Given the description of an element on the screen output the (x, y) to click on. 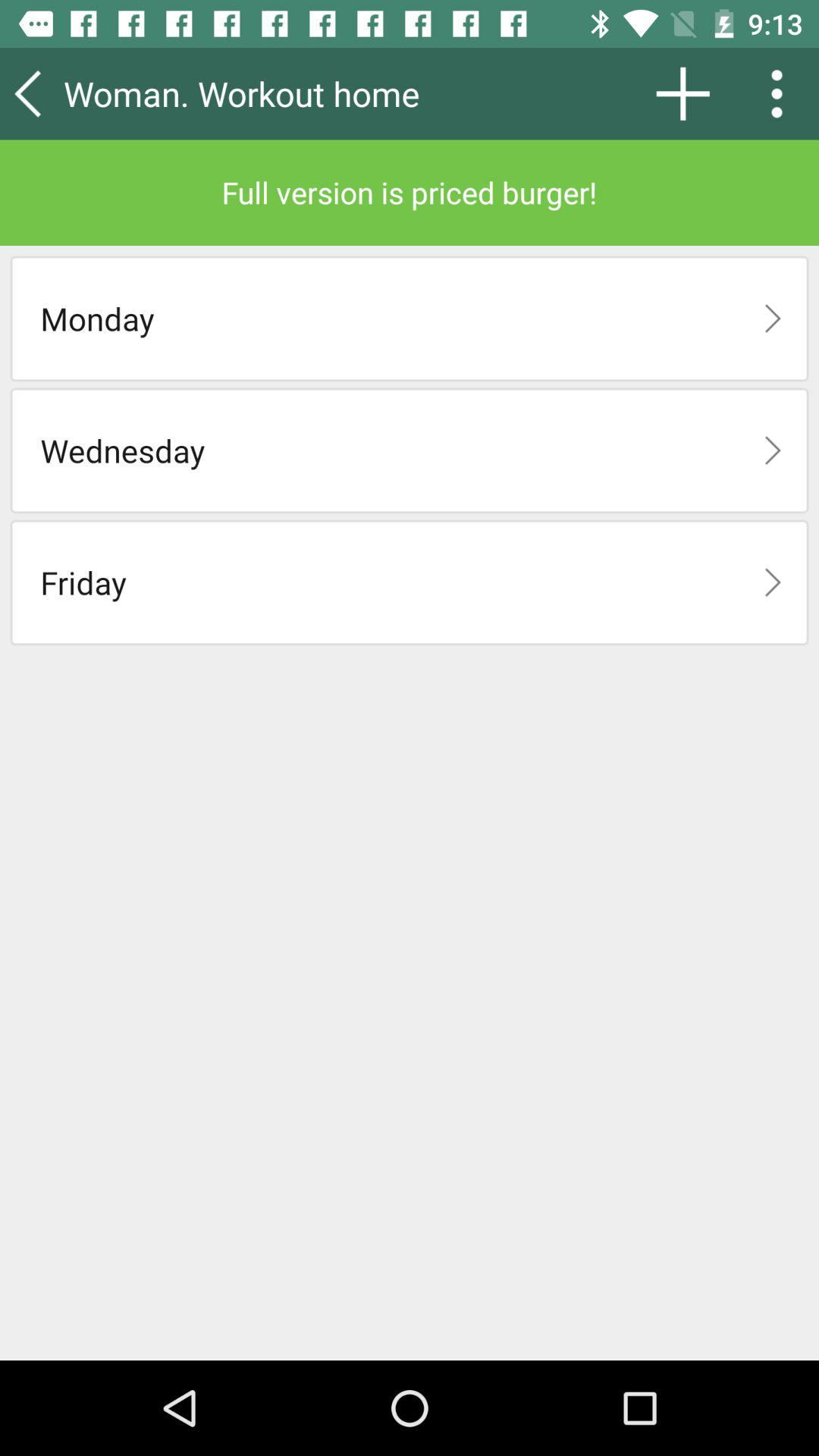
scroll until the woman. workout home item (284, 93)
